Given the description of an element on the screen output the (x, y) to click on. 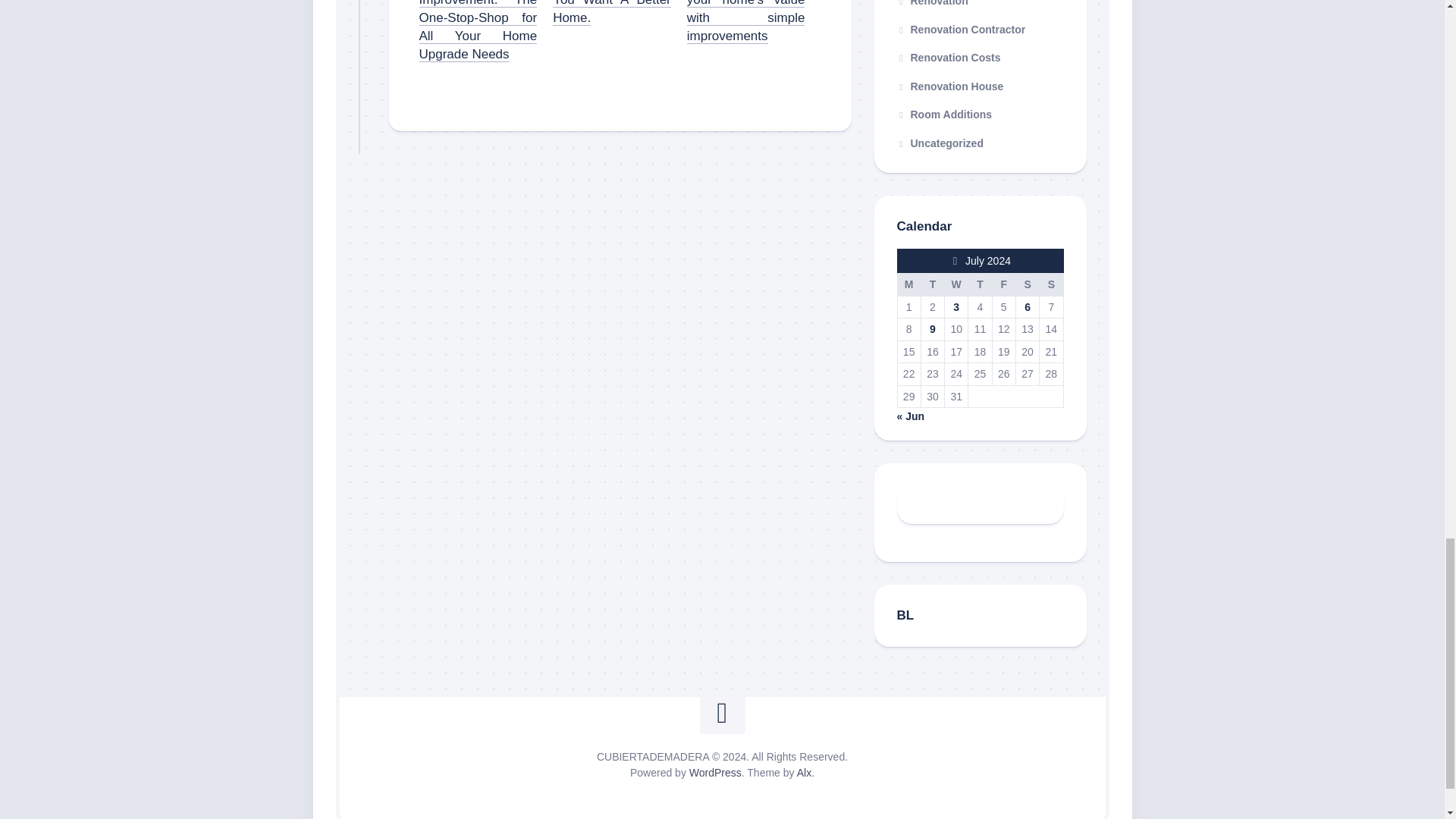
Saturday (1026, 284)
Sunday (1050, 284)
Monday (908, 284)
Wednesday (956, 284)
Thursday (979, 284)
Tuesday (931, 284)
Friday (1002, 284)
